Given the description of an element on the screen output the (x, y) to click on. 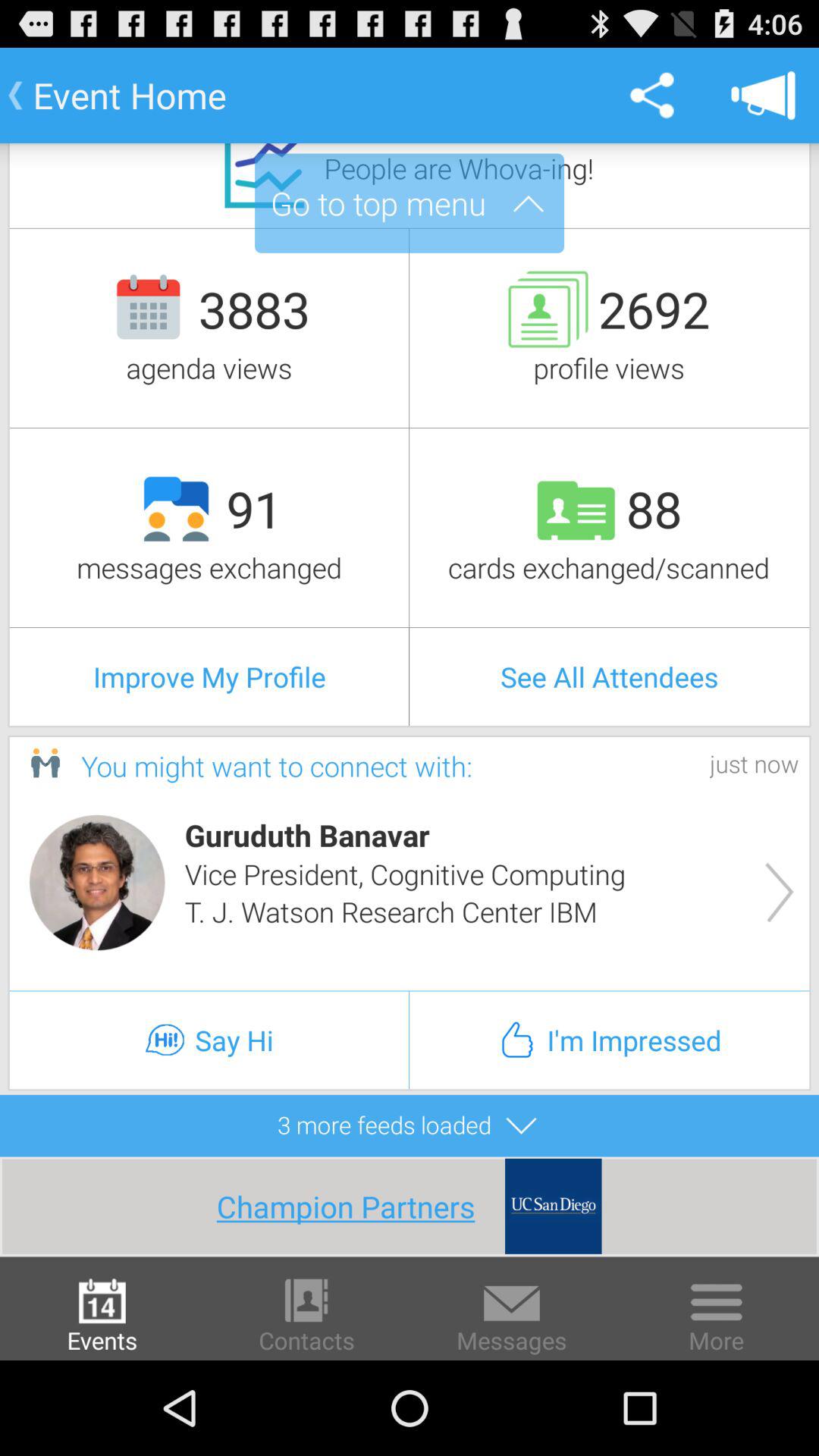
jump to champion partners item (360, 1206)
